Given the description of an element on the screen output the (x, y) to click on. 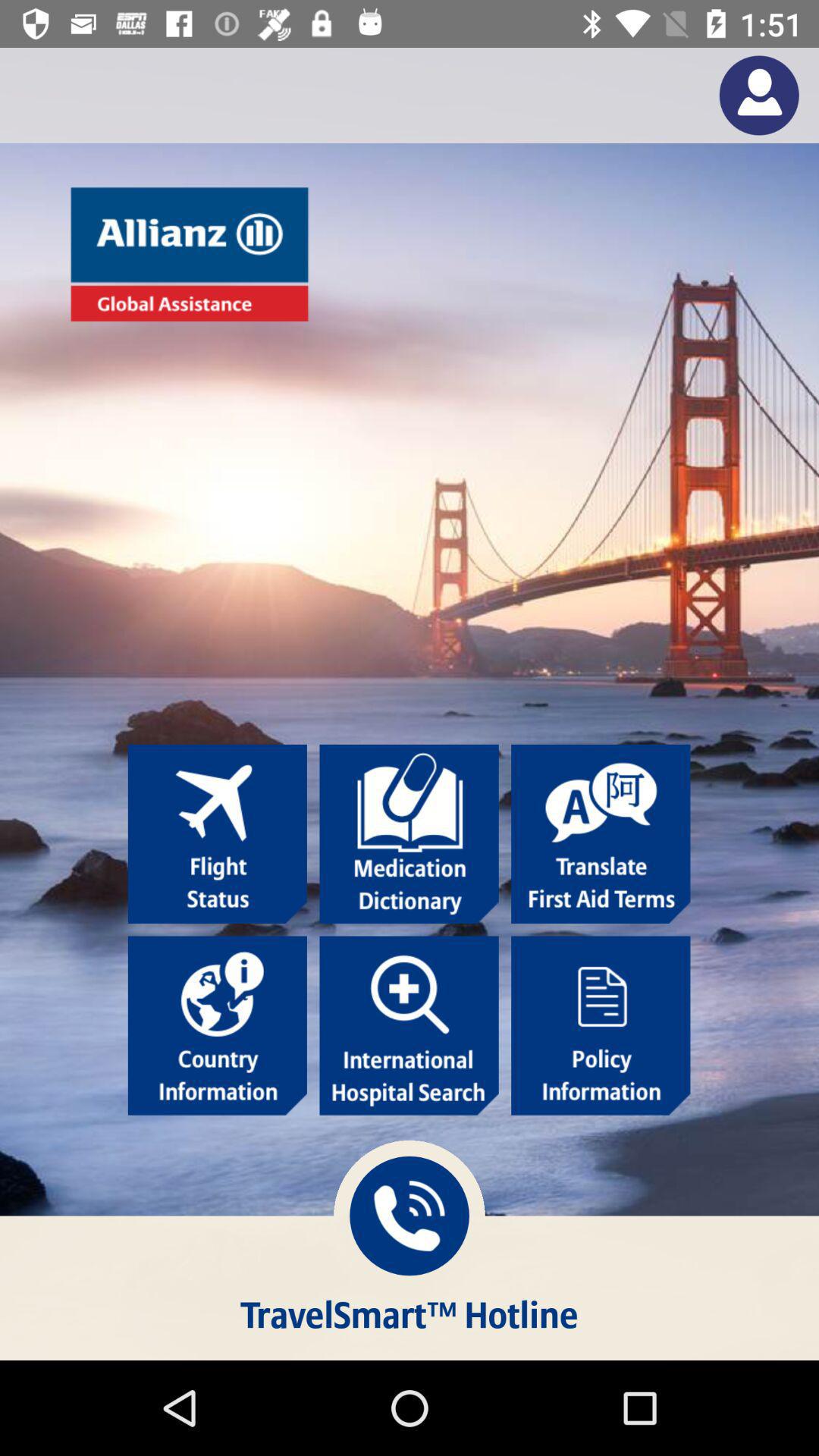
select country information (217, 1025)
